Given the description of an element on the screen output the (x, y) to click on. 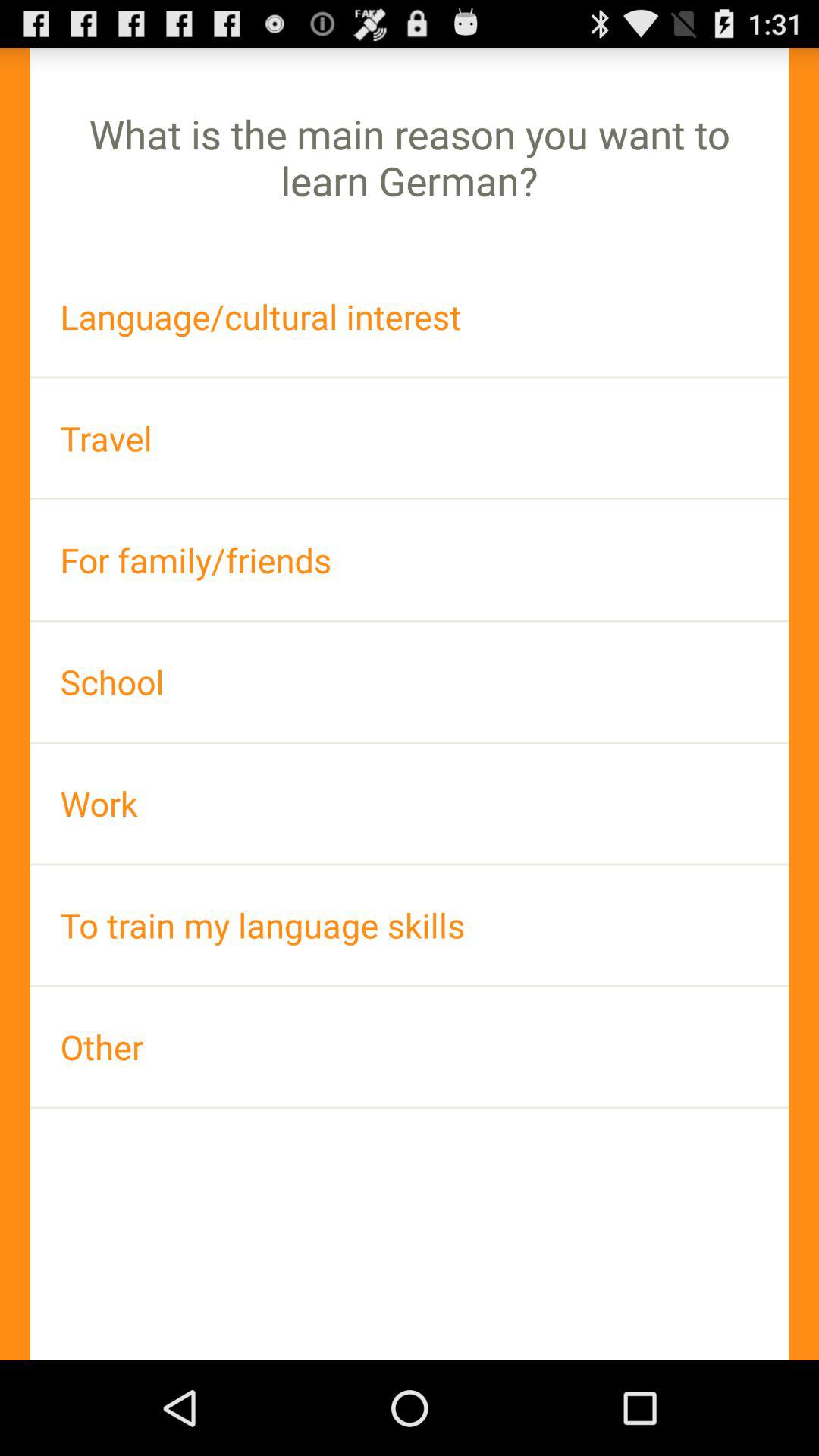
open the item above travel (409, 316)
